Given the description of an element on the screen output the (x, y) to click on. 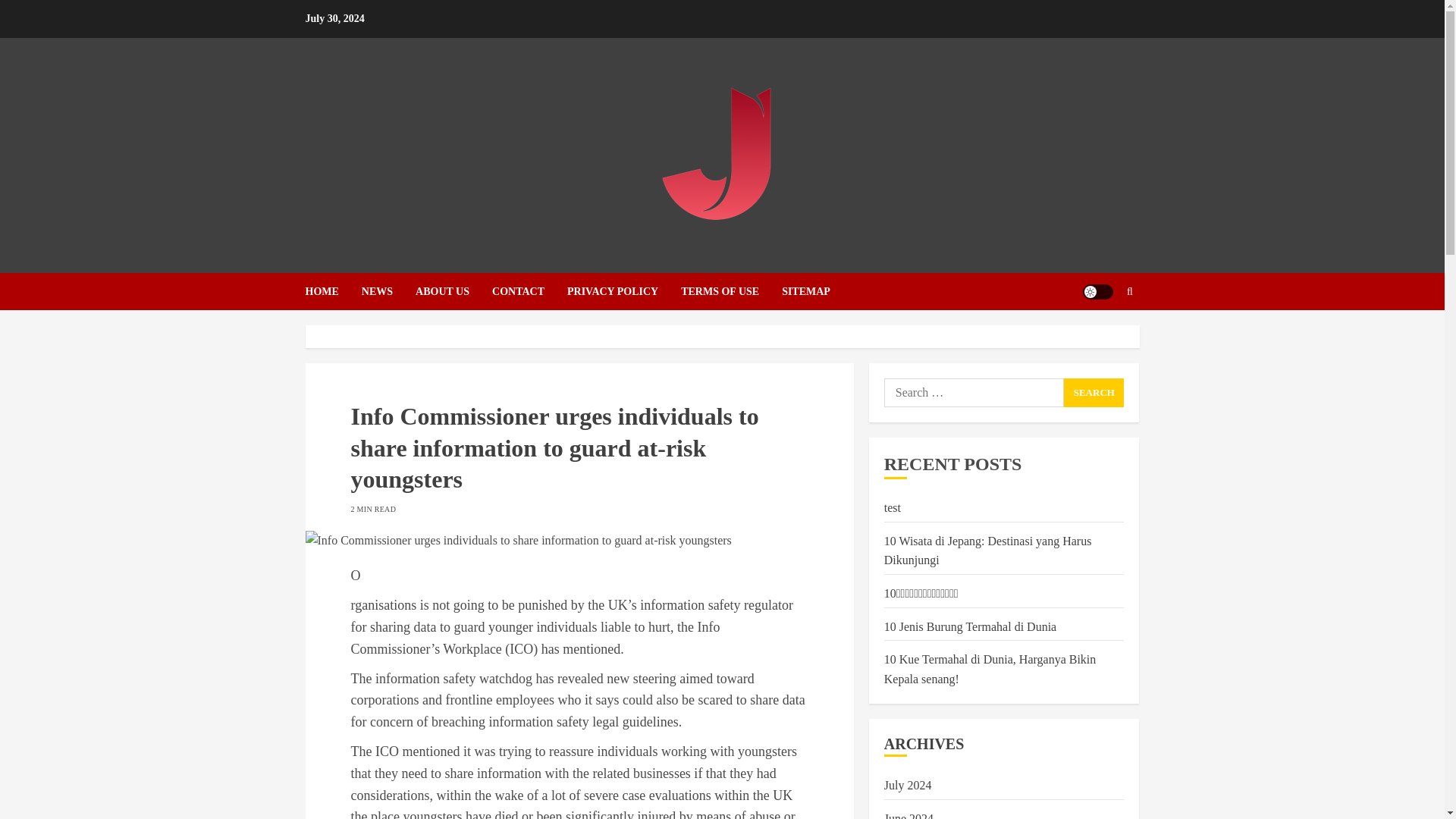
SITEMAP (805, 291)
10 Wisata di Jepang: Destinasi yang Harus Dikunjungi (987, 551)
Search (1099, 337)
Search (1094, 392)
CONTACT (529, 291)
10 Jenis Burung Termahal di Dunia (970, 626)
test (892, 508)
Search (1094, 392)
TERMS OF USE (731, 291)
HOME (332, 291)
Search (1094, 392)
ABOUT US (453, 291)
NEWS (387, 291)
10 Kue Termahal di Dunia, Harganya Bikin Kepala senang! (989, 669)
